Given the description of an element on the screen output the (x, y) to click on. 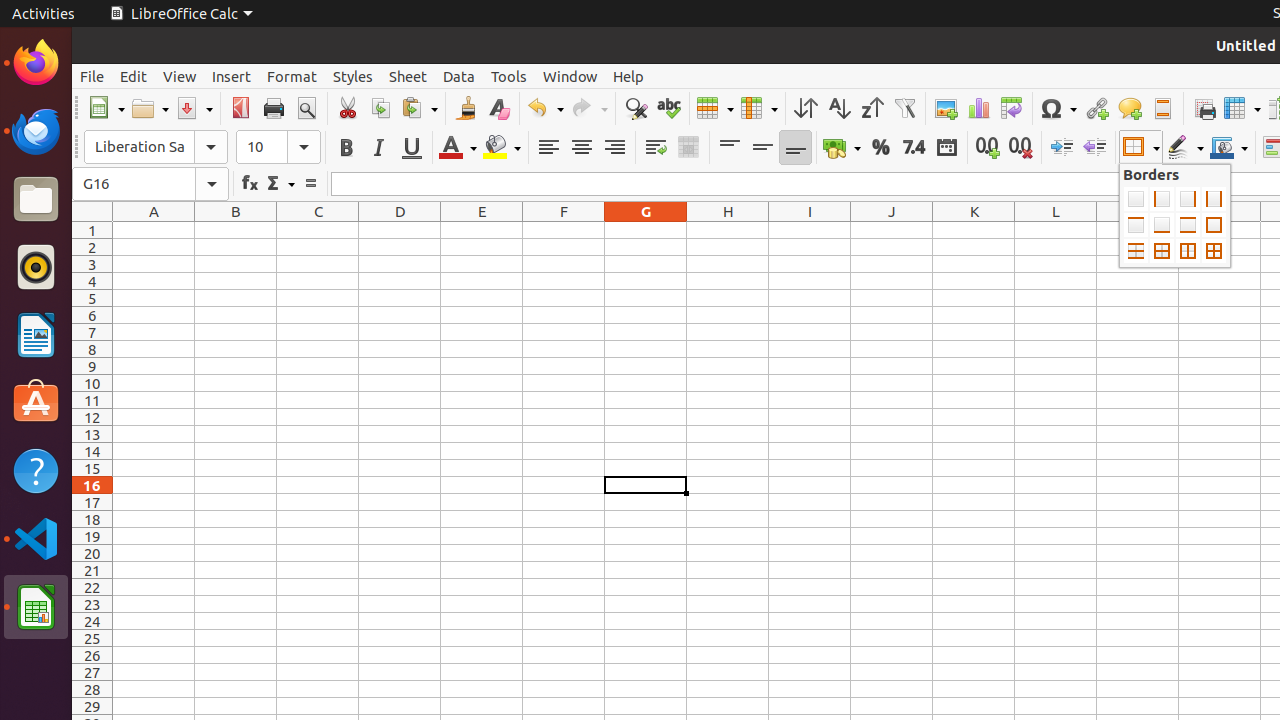
Sort Descending Element type: push-button (871, 108)
L1 Element type: table-cell (1056, 230)
Function Wizard Element type: push-button (249, 183)
Window Element type: menu (570, 76)
Bold Element type: toggle-button (345, 147)
